Given the description of an element on the screen output the (x, y) to click on. 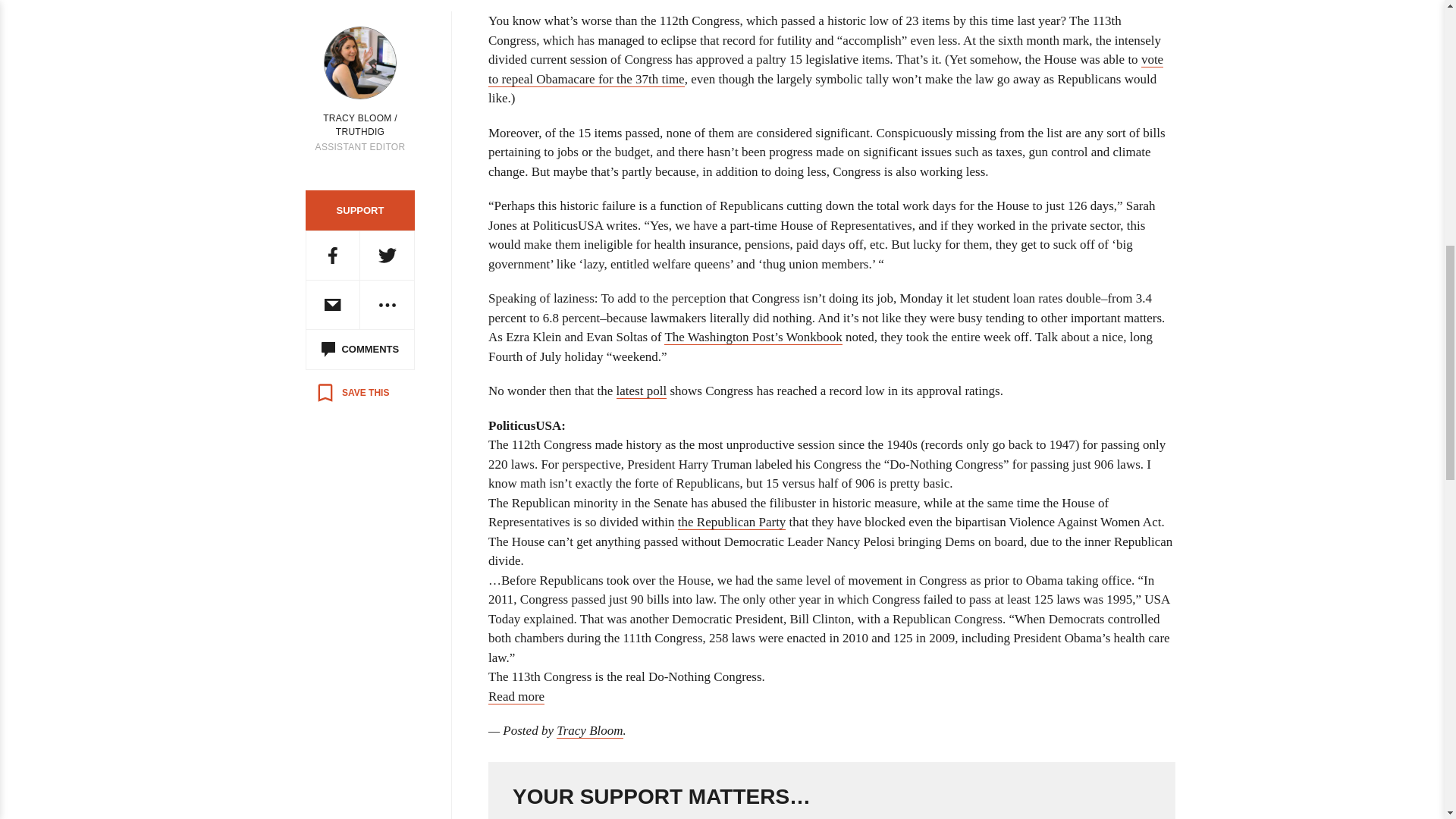
Washington Post's Wonkbook (752, 337)
Read more (515, 696)
Save to read later (351, 392)
latest poll (640, 391)
republican party (732, 522)
vote to repeal Obamacare for the 37th time (825, 69)
